Given the description of an element on the screen output the (x, y) to click on. 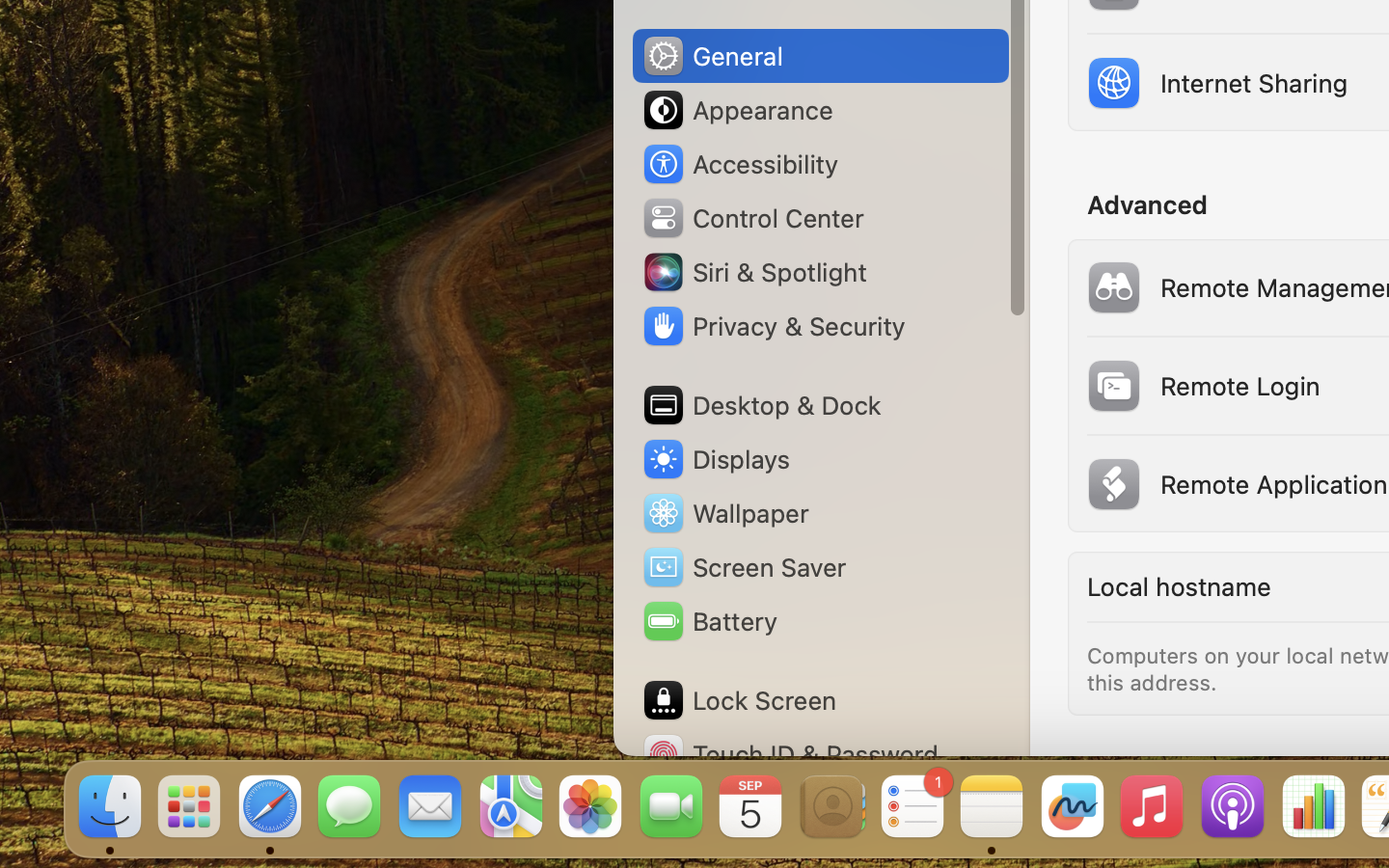
Remote Login Element type: AXStaticText (1200, 385)
Privacy & Security Element type: AXStaticText (772, 325)
Accessibility Element type: AXStaticText (739, 163)
Desktop & Dock Element type: AXStaticText (760, 404)
Touch ID & Password Element type: AXStaticText (789, 754)
